Given the description of an element on the screen output the (x, y) to click on. 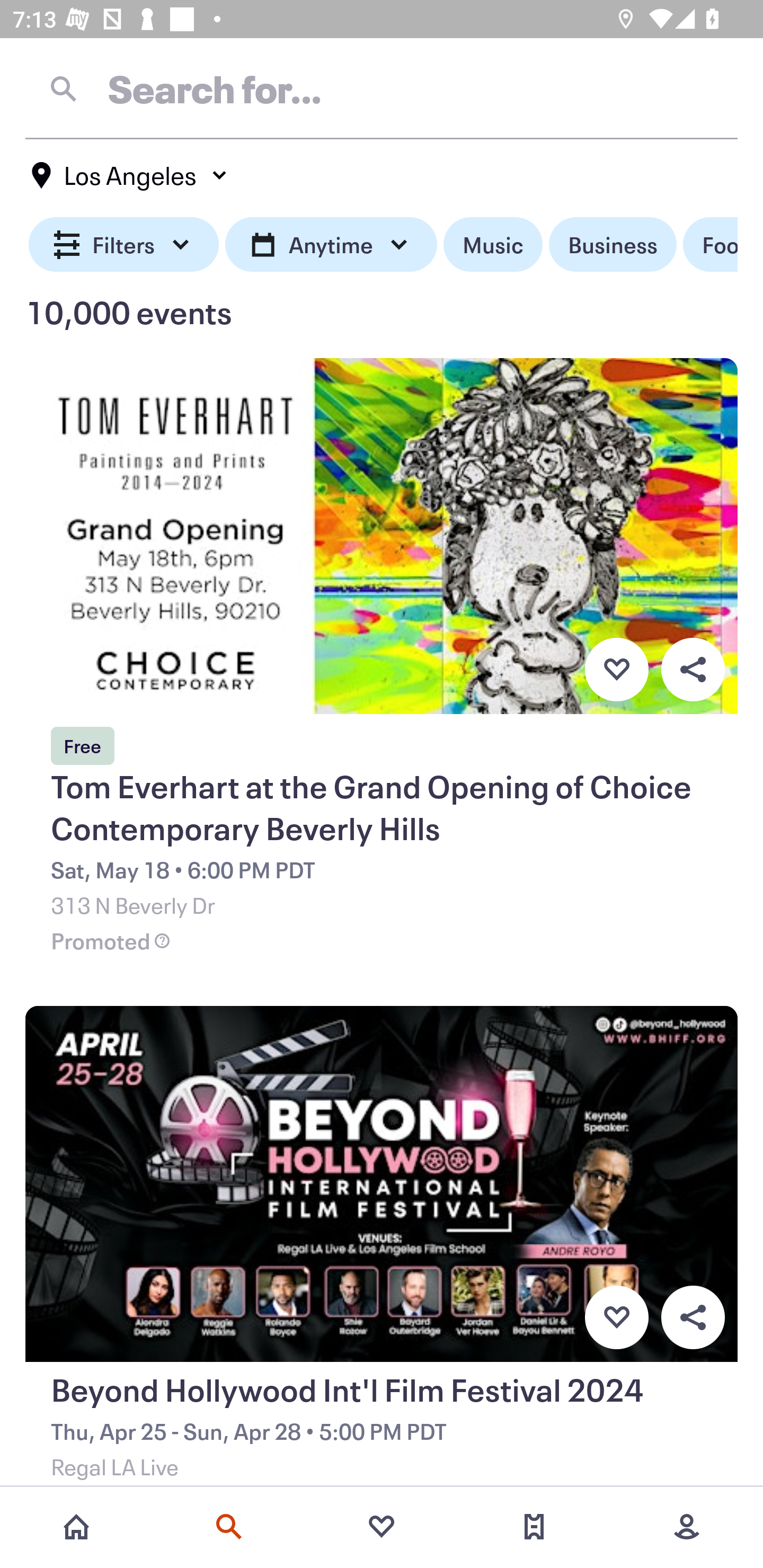
Search for… (381, 88)
Los Angeles (130, 175)
Filters (123, 244)
Anytime (331, 244)
Music (492, 244)
Business (612, 244)
Favorite button (616, 669)
Overflow menu button (692, 669)
Favorite button (616, 1317)
Overflow menu button (692, 1317)
Home (76, 1526)
Search events (228, 1526)
Favorites (381, 1526)
Tickets (533, 1526)
More (686, 1526)
